Given the description of an element on the screen output the (x, y) to click on. 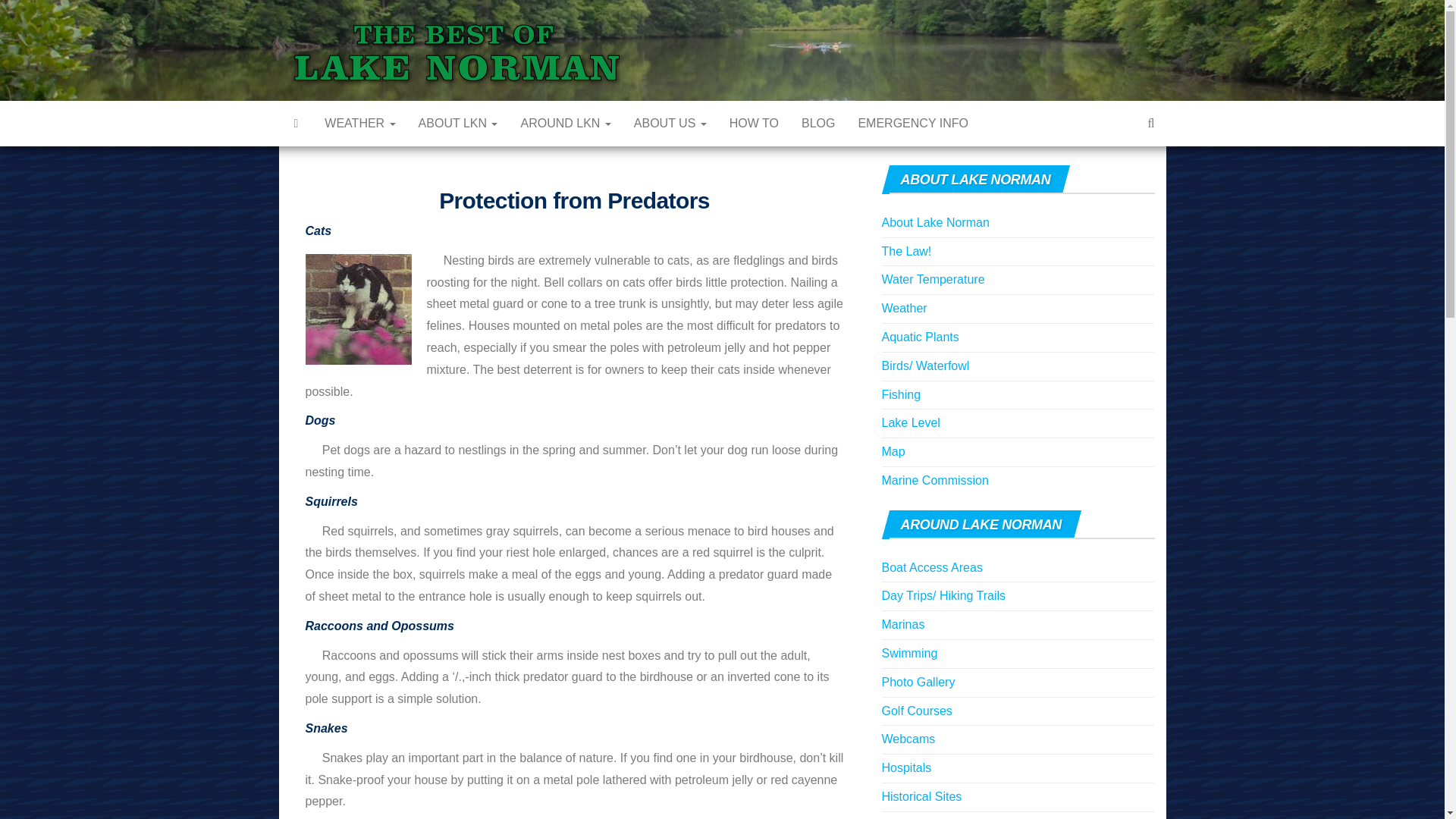
Best of Lake Norman (659, 64)
AROUND LKN (564, 123)
Weather (359, 123)
ABOUT LKN (458, 123)
WEATHER (359, 123)
